Given the description of an element on the screen output the (x, y) to click on. 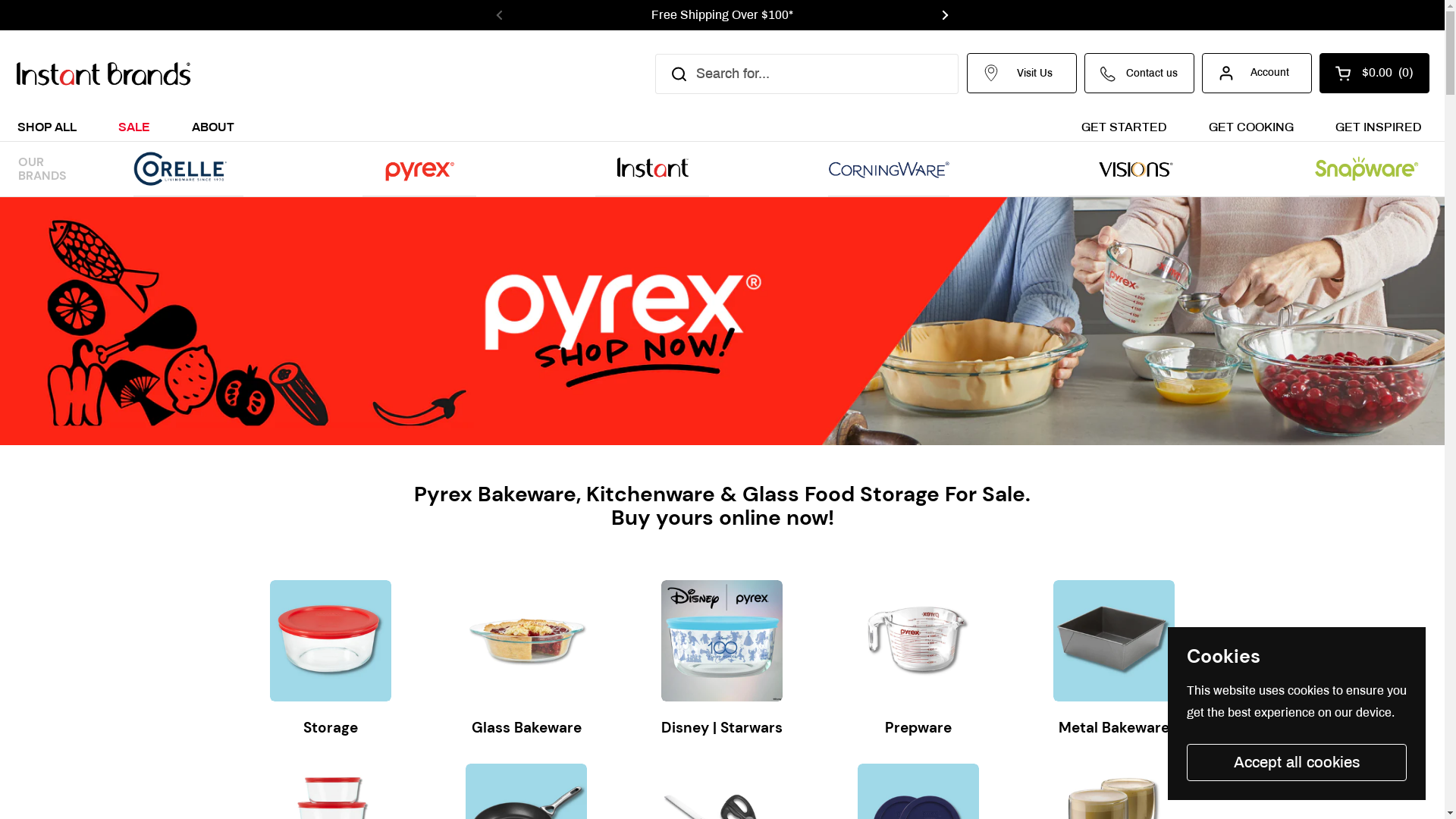
Disney | Starwars Element type: text (721, 728)
Contact us Element type: text (1139, 73)
Accept all cookies Element type: text (1296, 762)
GET INSPIRED Element type: text (1378, 125)
Storage Element type: text (330, 728)
Account Element type: text (1256, 73)
Free Shipping Over $100* Element type: text (722, 14)
Glass Bakeware Element type: text (526, 728)
Prepware Element type: text (917, 728)
Open cart
$0.00
  (
0
) Element type: text (1374, 73)
Visit us In-store or Online Element type: text (1168, 14)
Skip to content Element type: text (0, 0)
GET STARTED Element type: text (1124, 125)
Metal Bakeware Element type: text (1113, 728)
Instant Brands Element type: hover (103, 73)
ABOUT Element type: text (212, 125)
GET COOKING Element type: text (1250, 125)
SALE Element type: text (134, 125)
SHOP ALL Element type: text (46, 125)
Visit Us Element type: text (1021, 73)
